Given the description of an element on the screen output the (x, y) to click on. 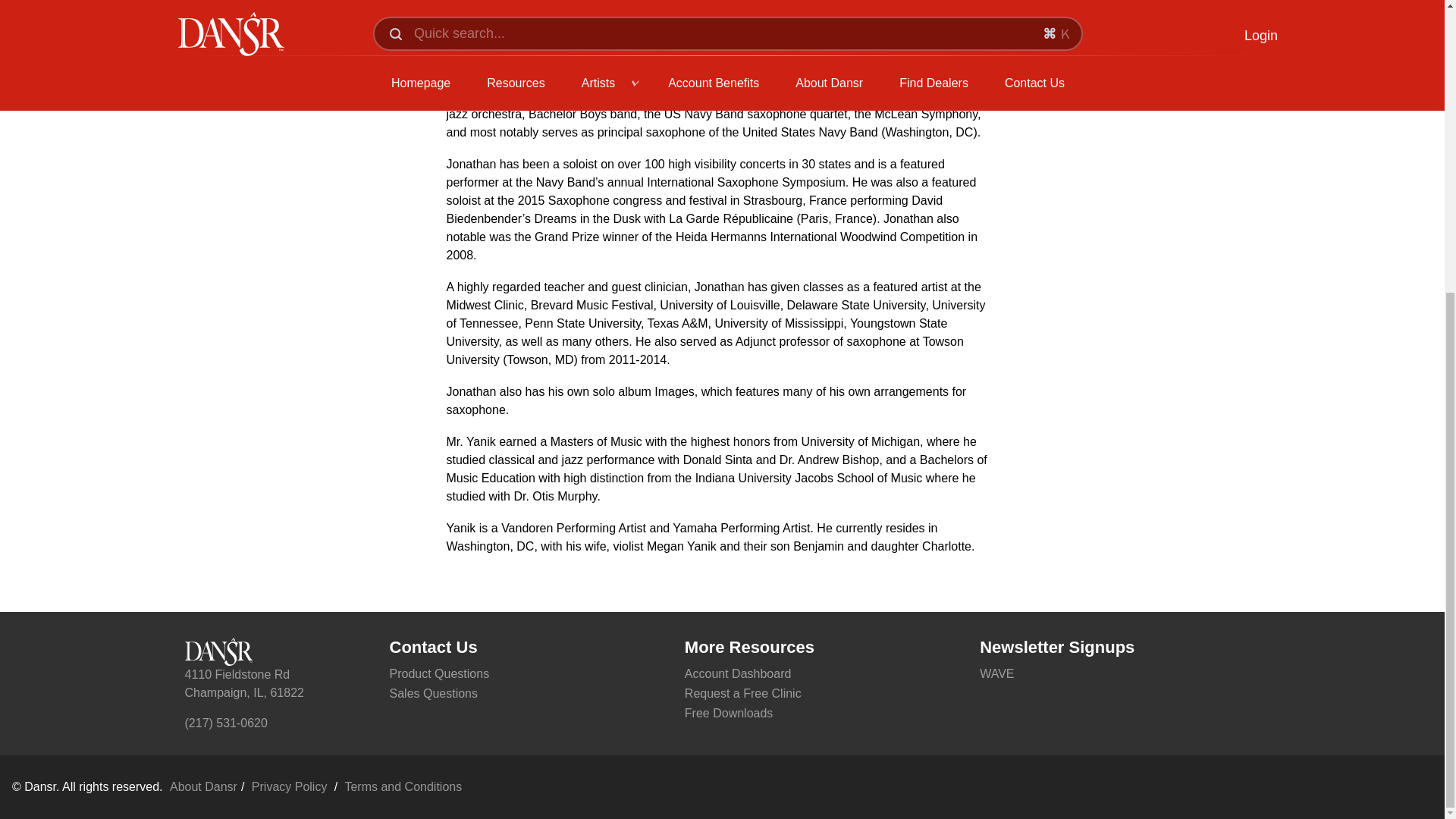
Contact Us (529, 647)
Product Questions (529, 673)
